Given the description of an element on the screen output the (x, y) to click on. 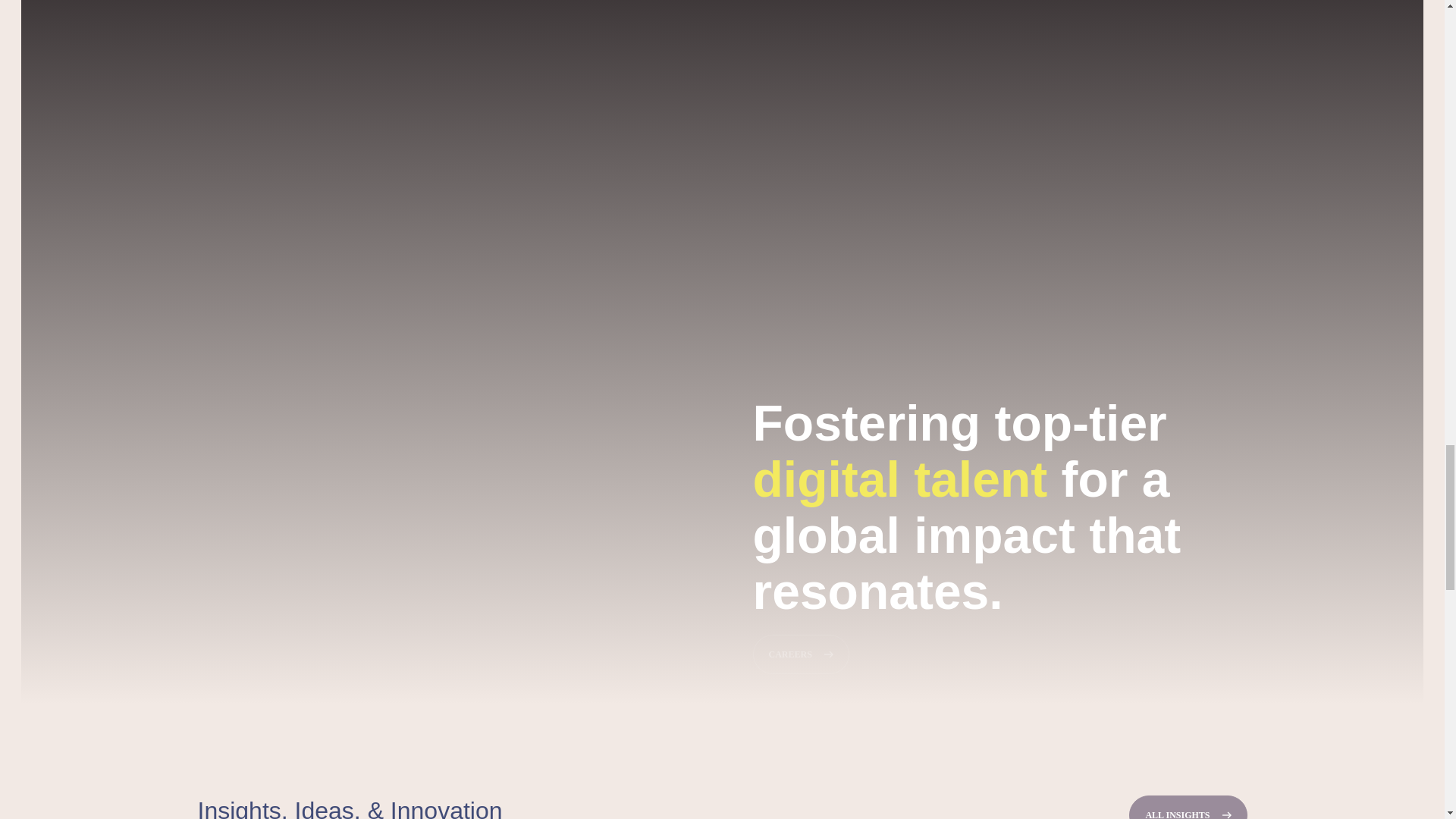
CAREERS (800, 654)
ALL INSIGHTS (1187, 807)
